Given the description of an element on the screen output the (x, y) to click on. 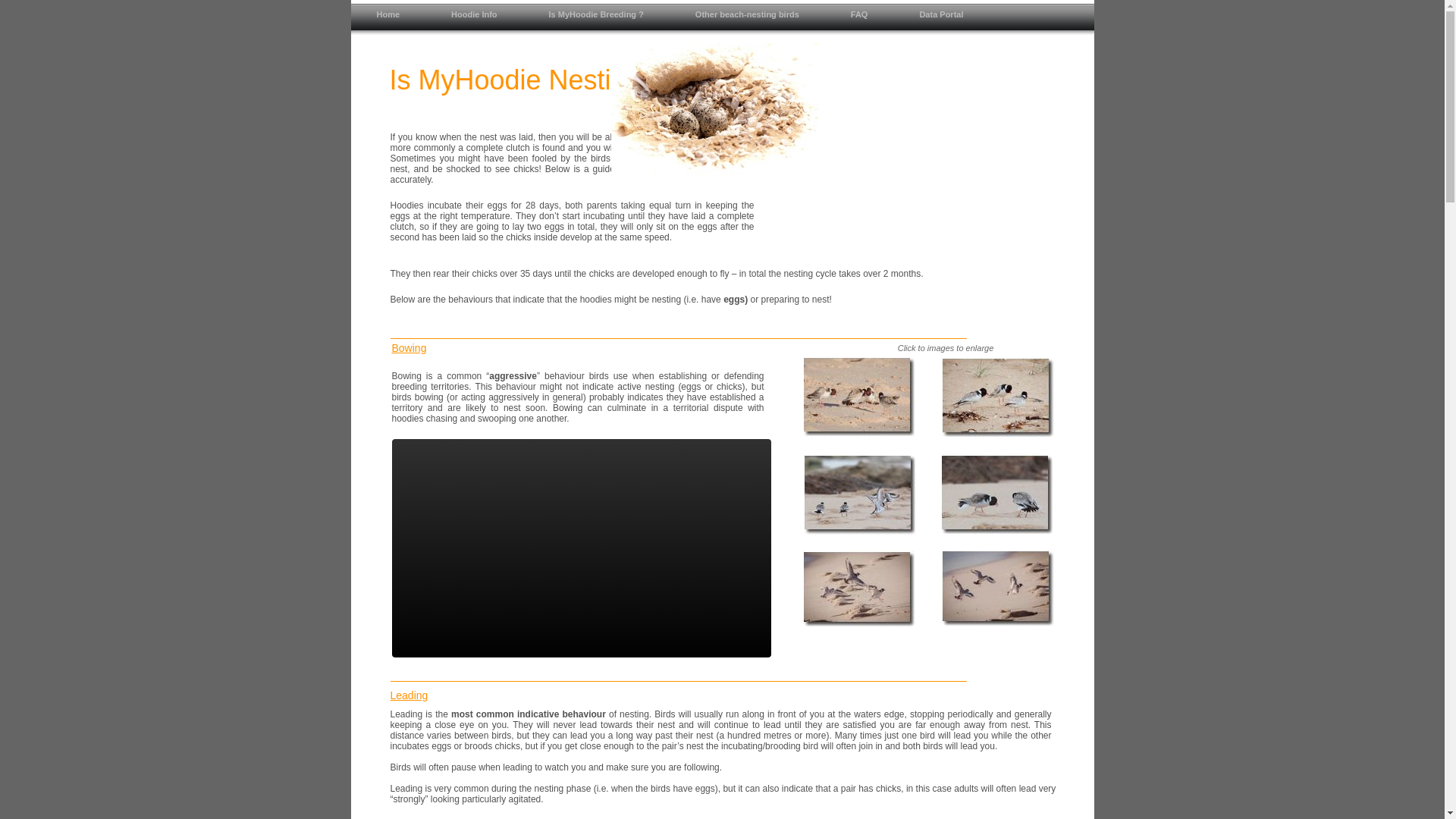
Data Portal Element type: text (940, 18)
Home Element type: text (387, 18)
Hoodie Info Element type: text (474, 18)
JoomlaWorks AllVideos Player Element type: hover (580, 548)
FAQ Element type: text (859, 18)
Is MyHoodie Breeding ? Element type: text (596, 18)
Other beach-nesting birds Element type: text (747, 18)
